Given the description of an element on the screen output the (x, y) to click on. 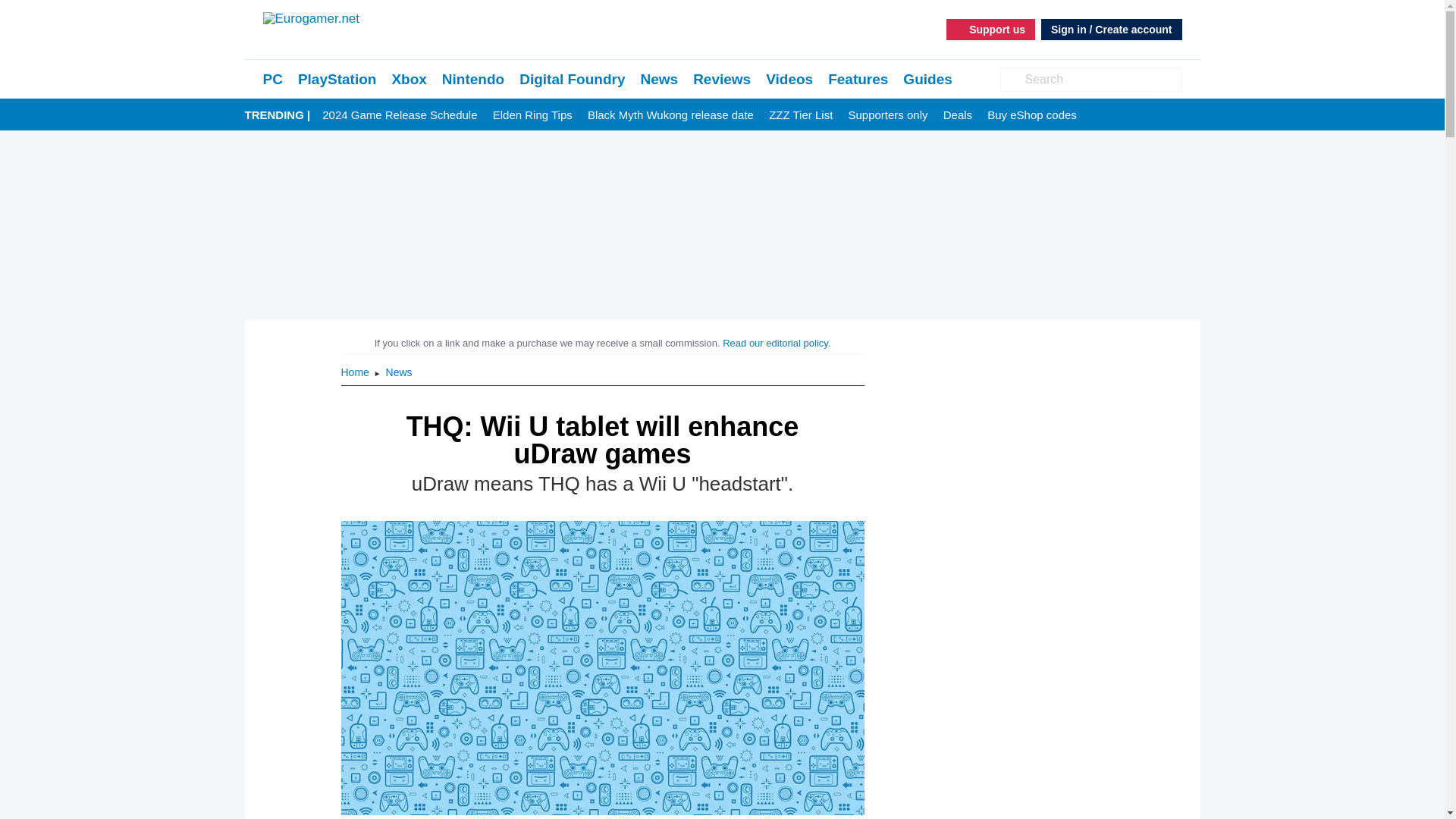
Read our editorial policy (775, 342)
Reviews (722, 78)
Reviews (722, 78)
Nintendo (472, 78)
Nintendo (472, 78)
Features (858, 78)
News (398, 372)
PlayStation (336, 78)
News (398, 372)
2024 Game Release Schedule (399, 114)
